Given the description of an element on the screen output the (x, y) to click on. 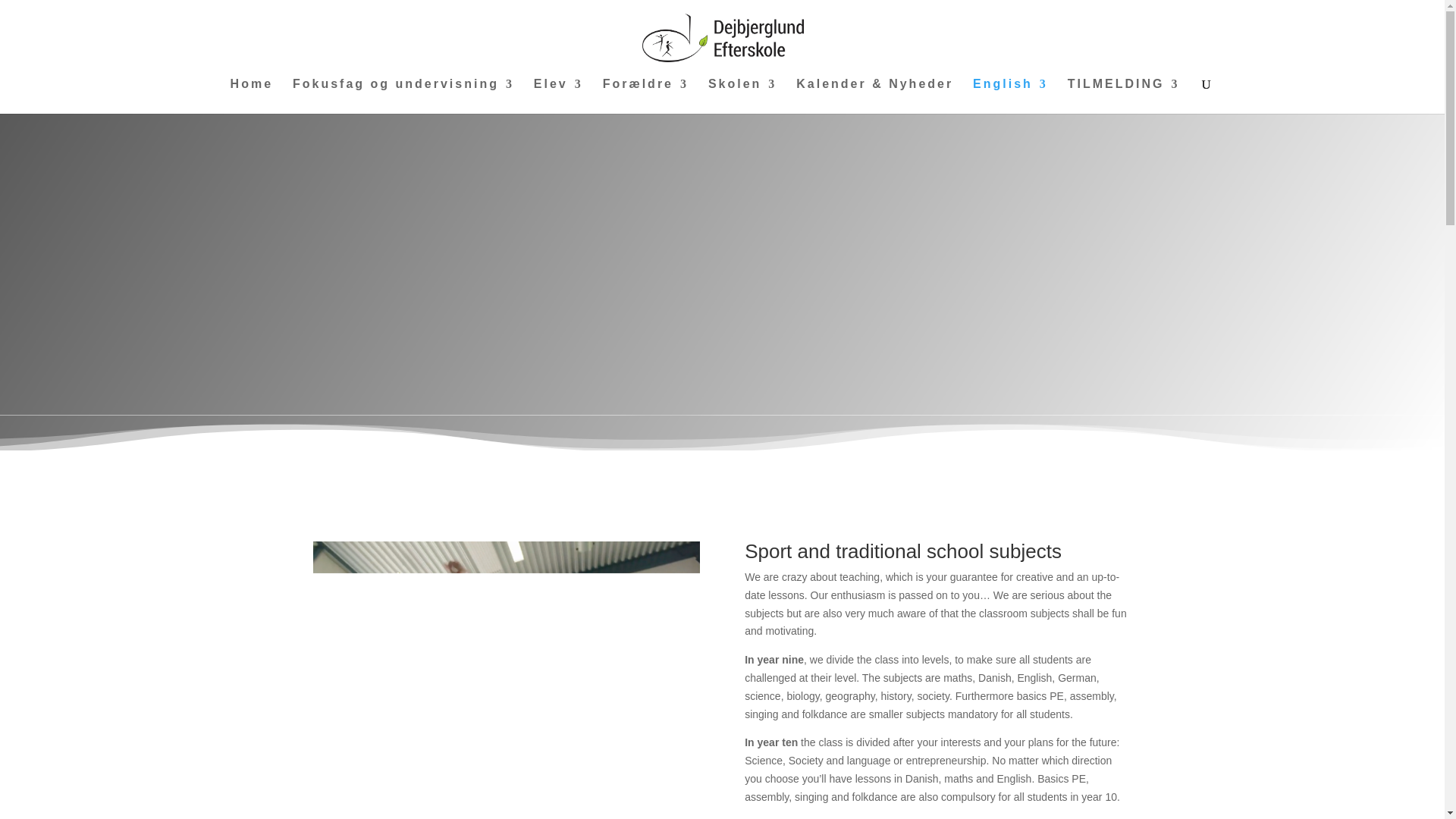
English (1010, 95)
Home (251, 95)
Skolen (741, 95)
Fokusfag og undervisning (402, 95)
Elev (558, 95)
